Given the description of an element on the screen output the (x, y) to click on. 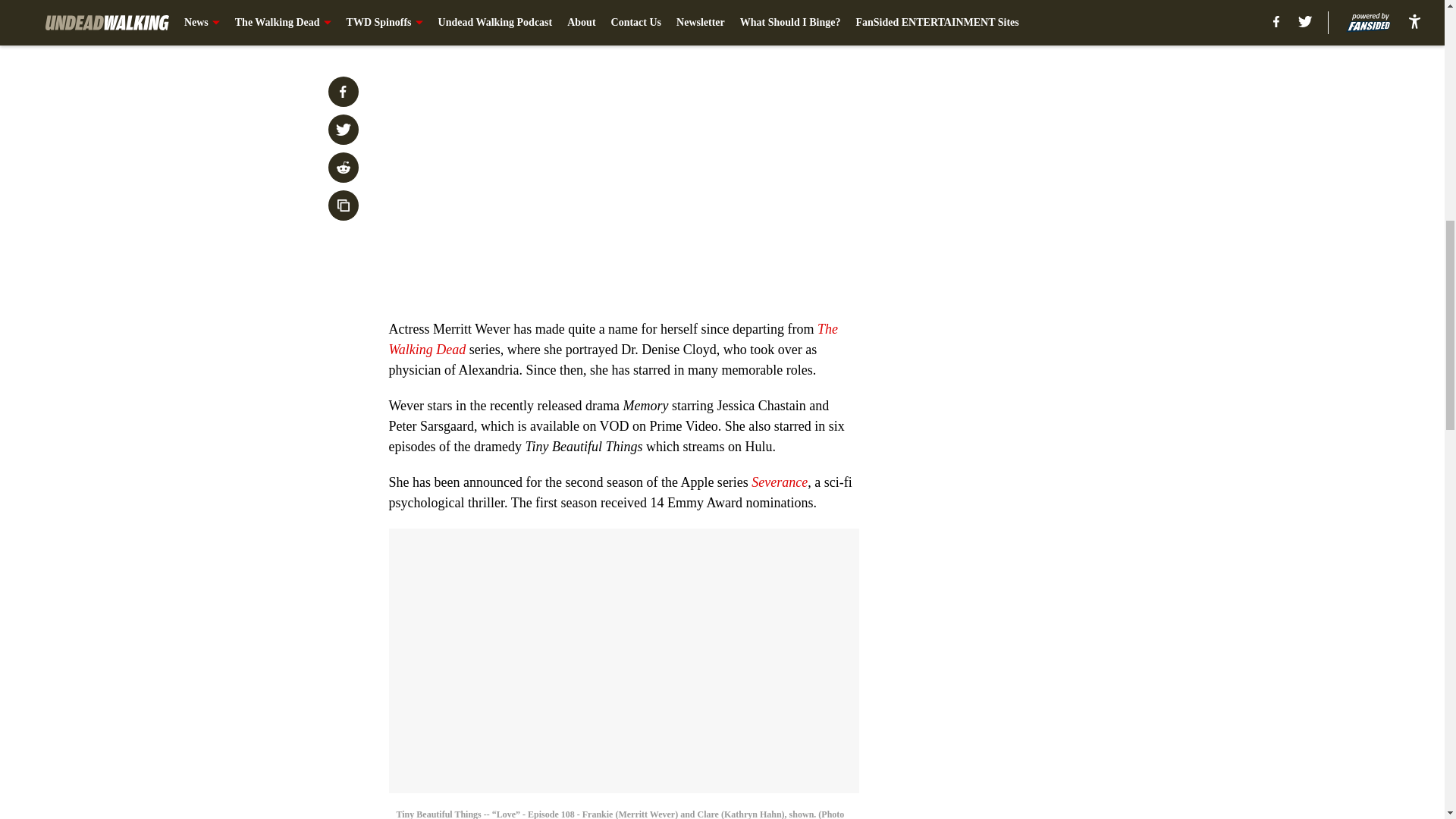
The Walking Dead (613, 339)
Severance (779, 482)
